Given the description of an element on the screen output the (x, y) to click on. 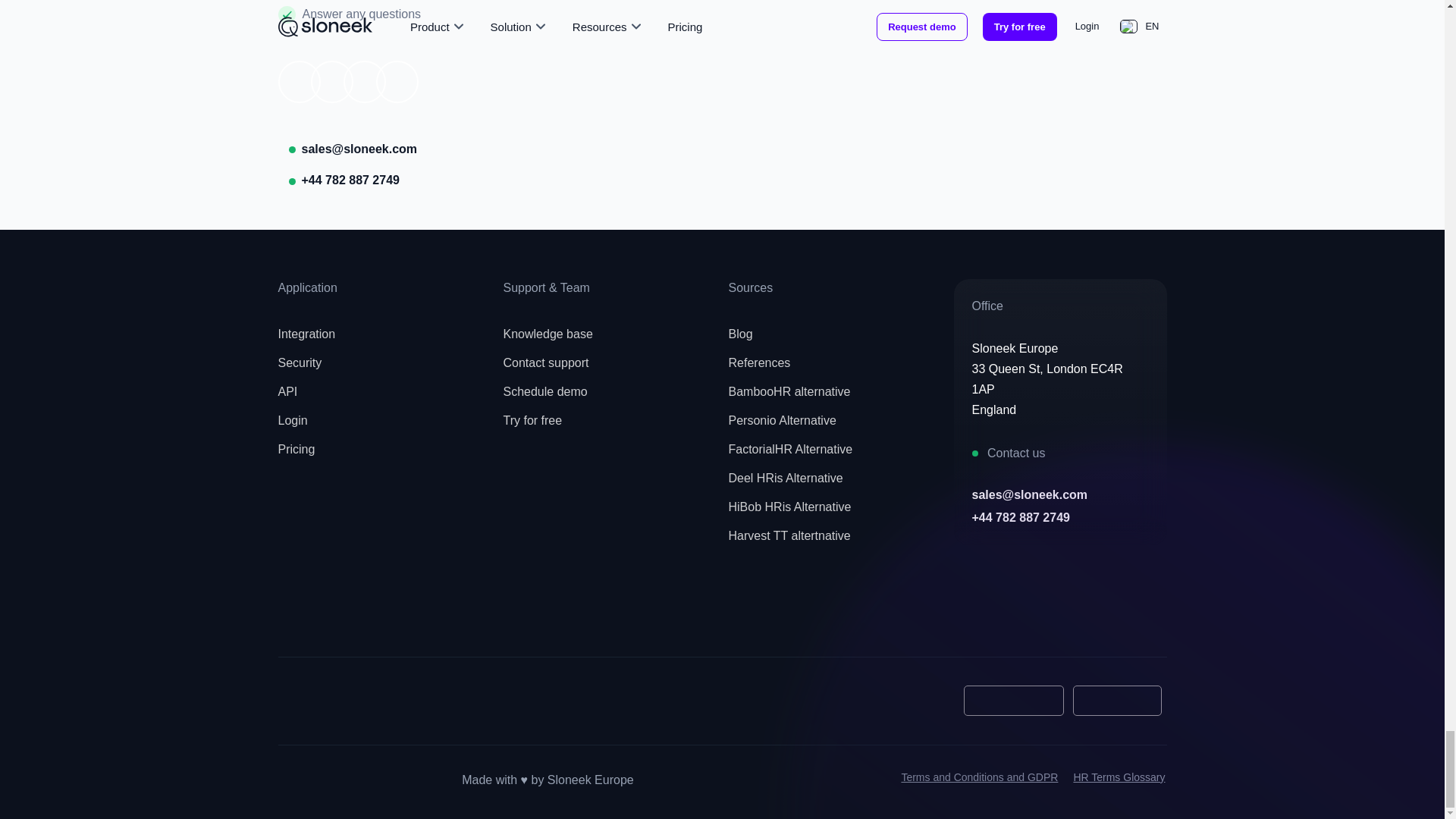
facebook (300, 612)
youtube (367, 612)
Capterra (324, 700)
linkedin (433, 612)
audioboom (500, 612)
